Given the description of an element on the screen output the (x, y) to click on. 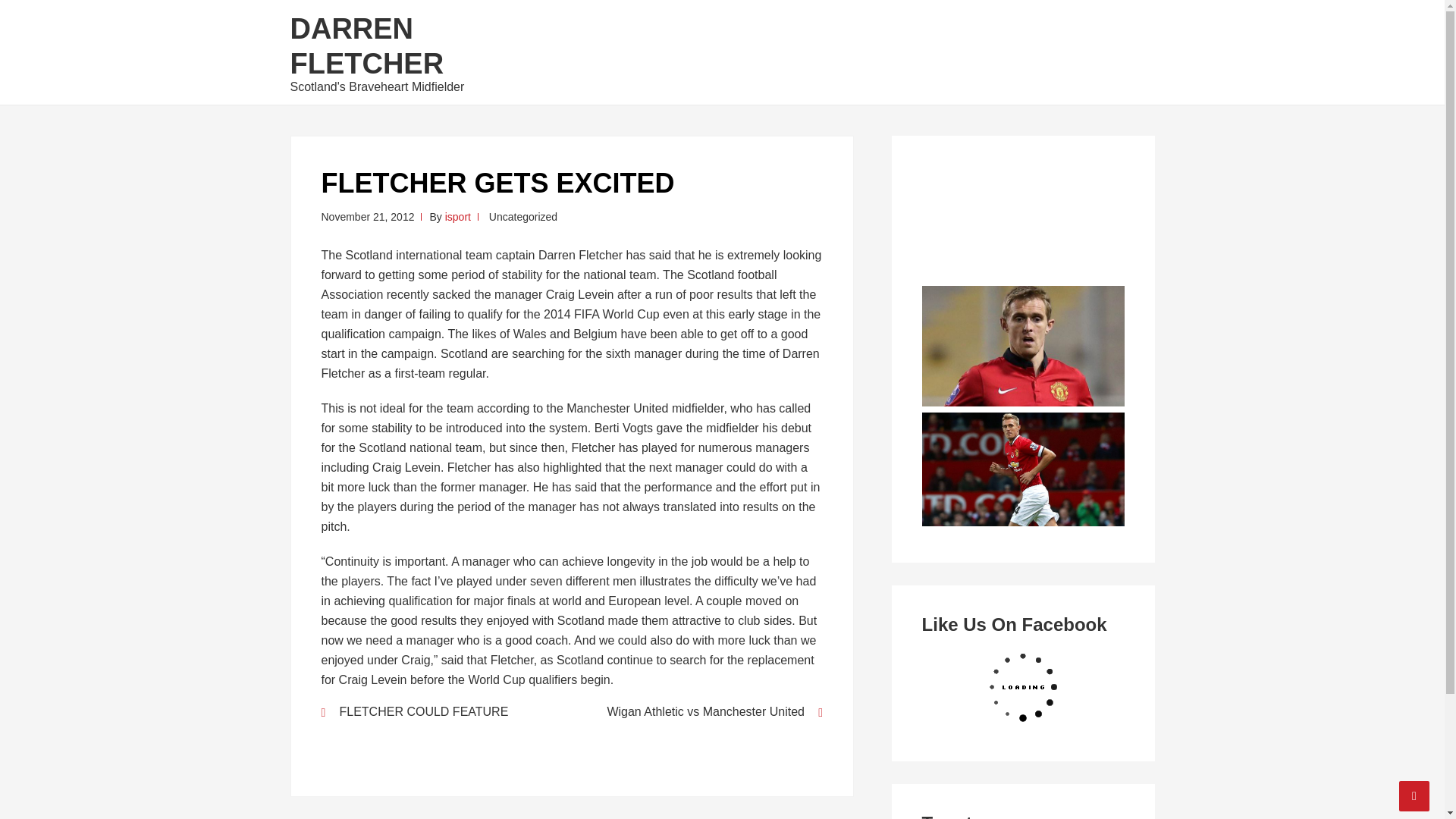
Wigan Athletic vs Manchester United (707, 712)
DARREN FLETCHER (366, 46)
FLETCHER COULD FEATURE (436, 712)
View all posts by isport (457, 216)
isport (457, 216)
